Given the description of an element on the screen output the (x, y) to click on. 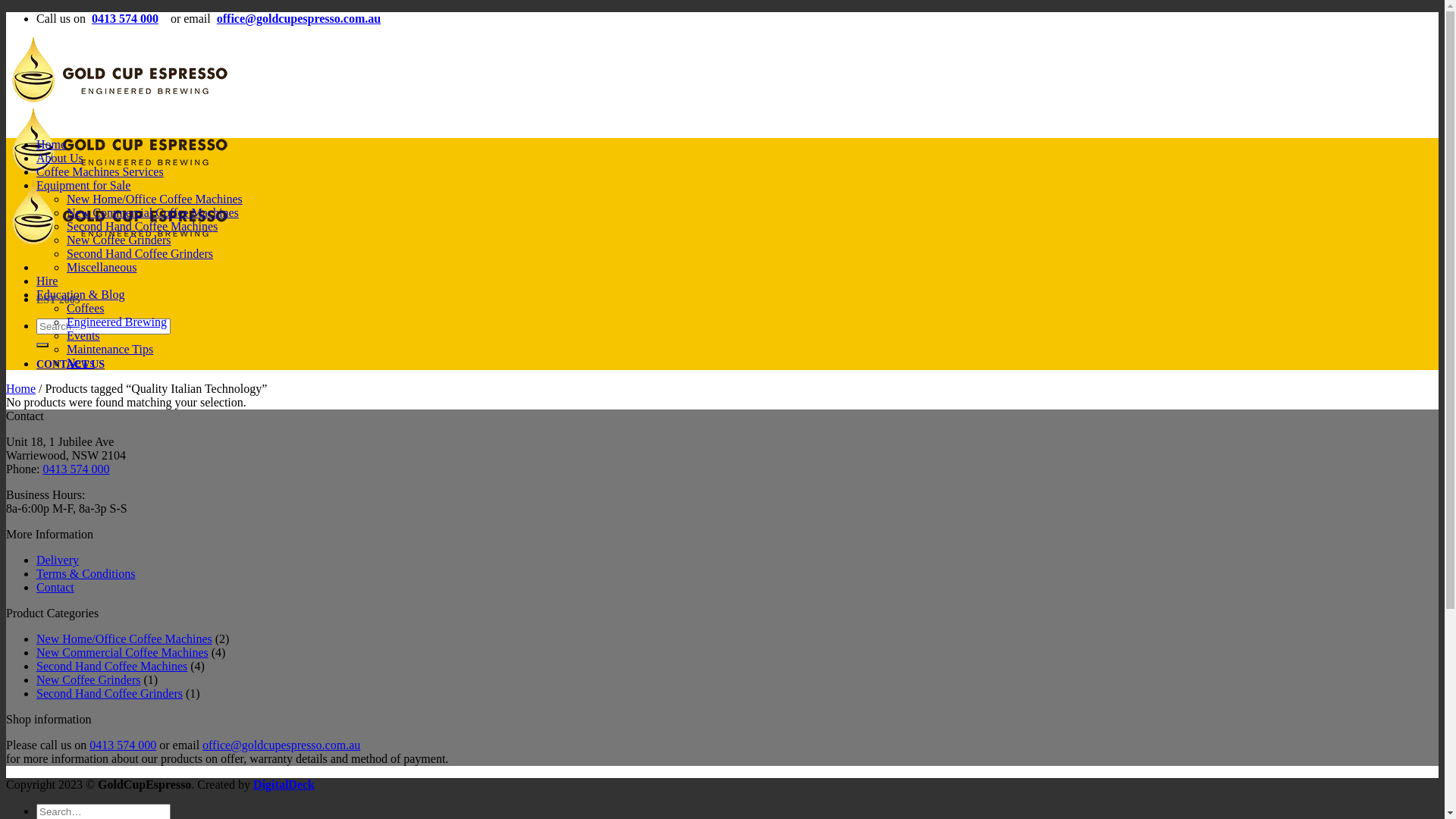
New Commercial Coffee Machines Element type: text (122, 652)
Hire Element type: text (46, 280)
0413 574 000 Element type: text (122, 744)
Second Hand Coffee Machines Element type: text (111, 665)
Events Element type: text (83, 335)
New Coffee Grinders Element type: text (118, 239)
CONTACT US Element type: text (70, 364)
Miscellaneous Element type: text (101, 266)
0413 574 000 Element type: text (124, 18)
Second Hand Coffee Grinders Element type: text (139, 253)
Education & Blog Element type: text (80, 294)
office@goldcupespresso.com.au Element type: text (281, 744)
DigitalDeck Element type: text (283, 784)
News Element type: text (80, 362)
Equipment for Sale Element type: text (83, 184)
Coffee Machines Services Element type: text (99, 171)
Home Element type: text (50, 144)
0413 574 000 Element type: text (75, 468)
Second Hand Coffee Grinders Element type: text (109, 693)
Maintenance Tips Element type: text (109, 348)
New Coffee Grinders Element type: text (88, 679)
New Commercial Coffee Machines Element type: text (152, 212)
Coffees Element type: text (84, 307)
Contact Element type: text (55, 586)
office@goldcupespresso.com.au Element type: text (298, 18)
Terms & Conditions Element type: text (85, 573)
Home Element type: text (20, 388)
Engineered Brewing Element type: text (116, 321)
Search Element type: text (42, 344)
About Us Element type: text (59, 157)
New Home/Office Coffee Machines Element type: text (124, 638)
Delivery Element type: text (57, 559)
Skip to content Element type: text (5, 11)
Second Hand Coffee Machines Element type: text (141, 225)
New Home/Office Coffee Machines Element type: text (154, 198)
